Given the description of an element on the screen output the (x, y) to click on. 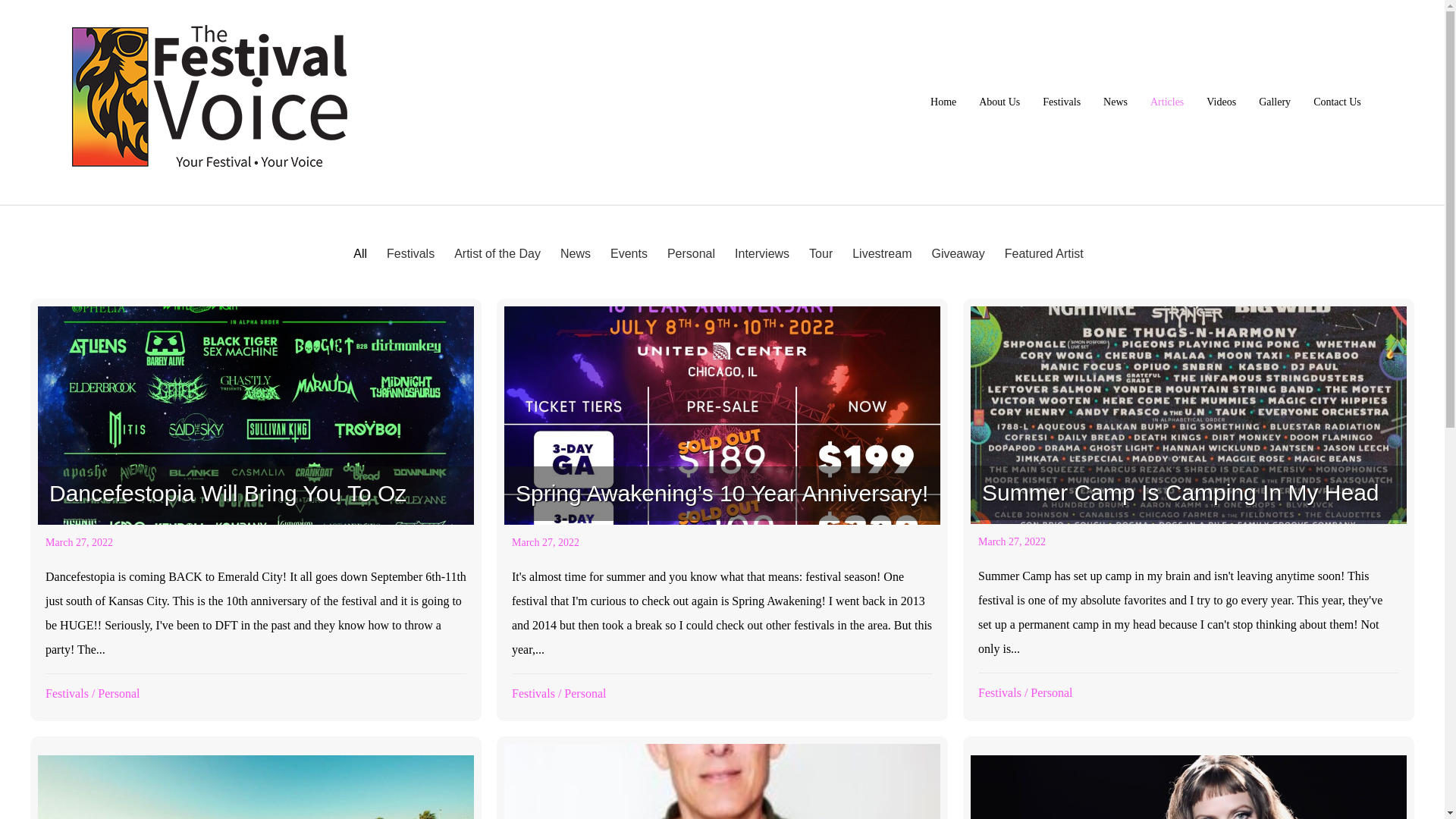
Festivals (66, 693)
About Us (999, 102)
Personal (584, 693)
Visit the About Us section (999, 102)
Festivals (533, 693)
Personal (118, 693)
Visit the homepage (943, 102)
Articles (1166, 102)
Personal (1050, 692)
Videos (1221, 102)
News (1115, 102)
Visit the Festivals section (1061, 102)
Gallery (1274, 102)
Visit the Articles section (1166, 102)
Festivals (1000, 692)
